Given the description of an element on the screen output the (x, y) to click on. 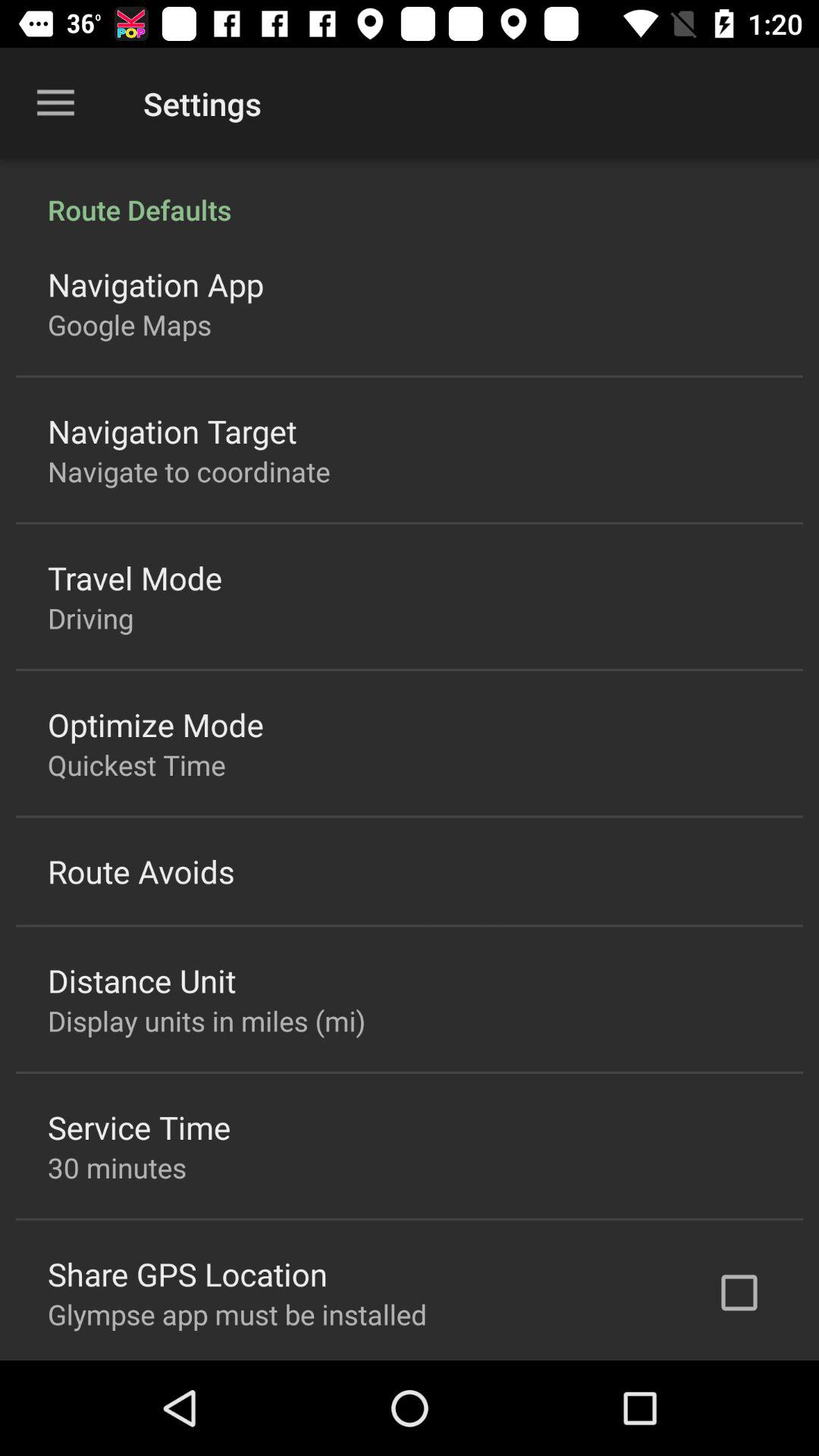
choose the item above the service time icon (206, 1020)
